Given the description of an element on the screen output the (x, y) to click on. 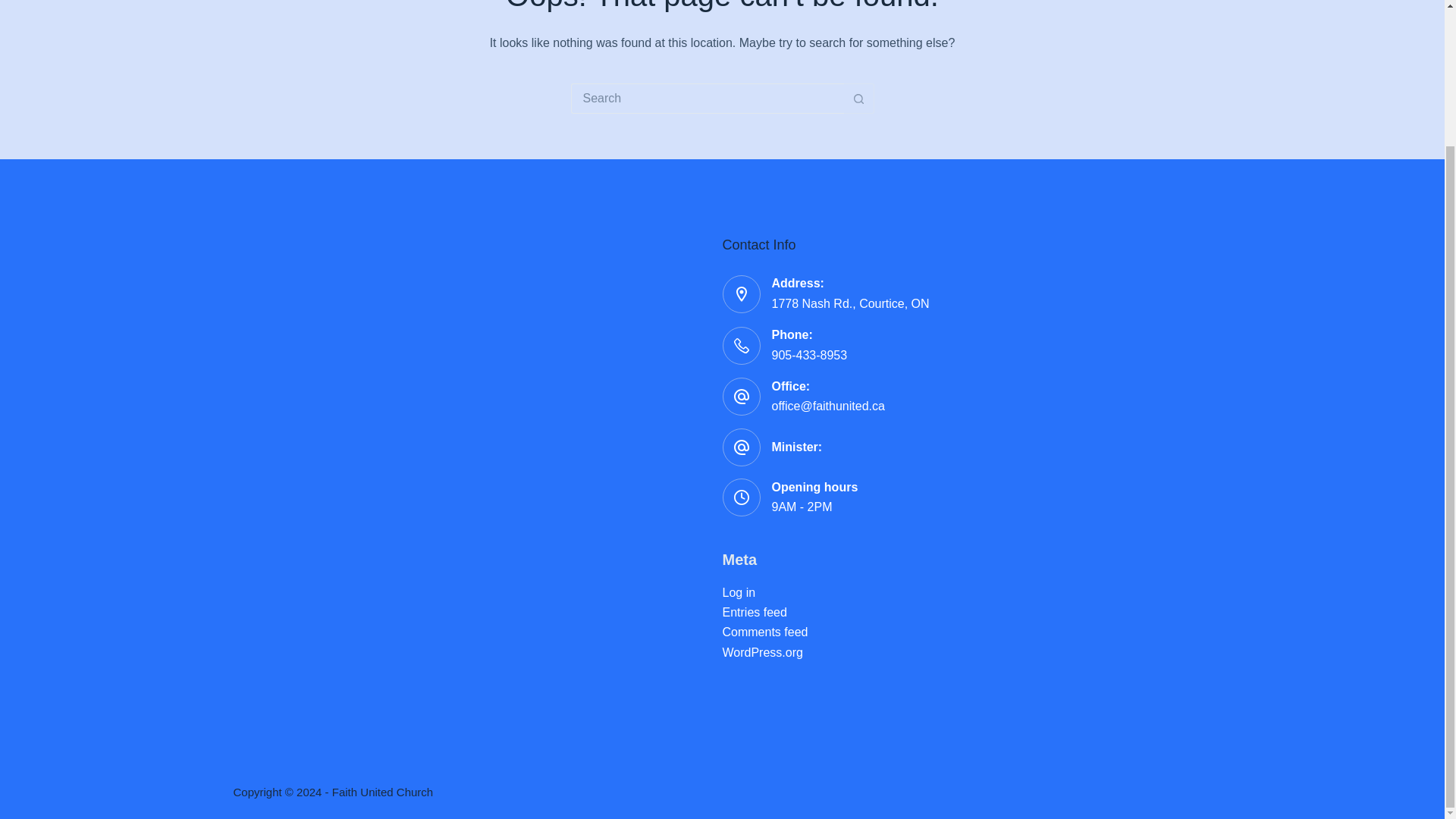
Search for... (706, 98)
